Given the description of an element on the screen output the (x, y) to click on. 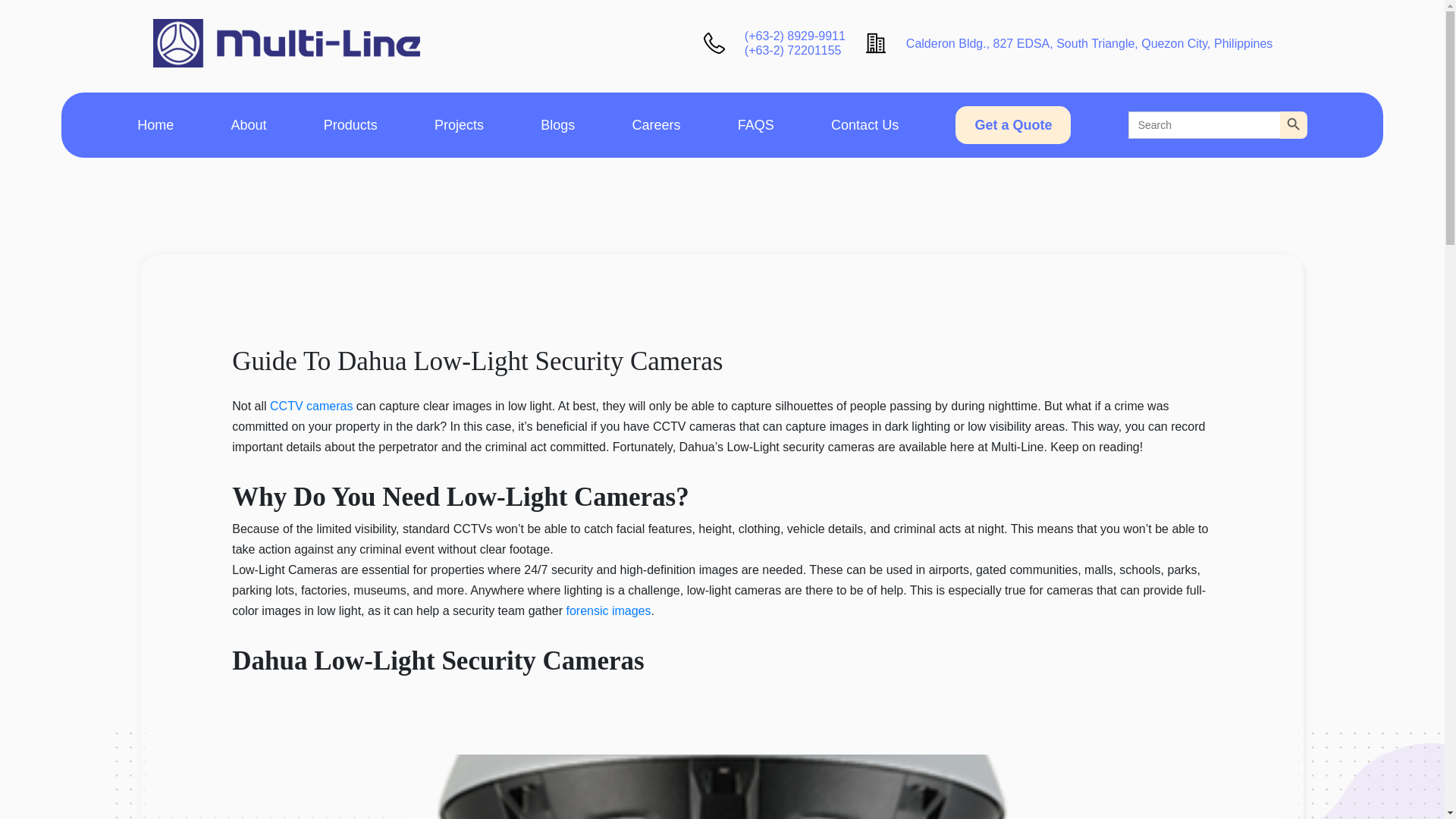
Projects (458, 124)
Careers (656, 124)
Products (350, 124)
FAQS (756, 124)
Home (154, 124)
Search Button (1293, 124)
About (248, 124)
Contact Us (864, 124)
forensic images (608, 610)
CCTV cameras (310, 405)
Get a Quote (1012, 125)
Blogs (557, 124)
